Given the description of an element on the screen output the (x, y) to click on. 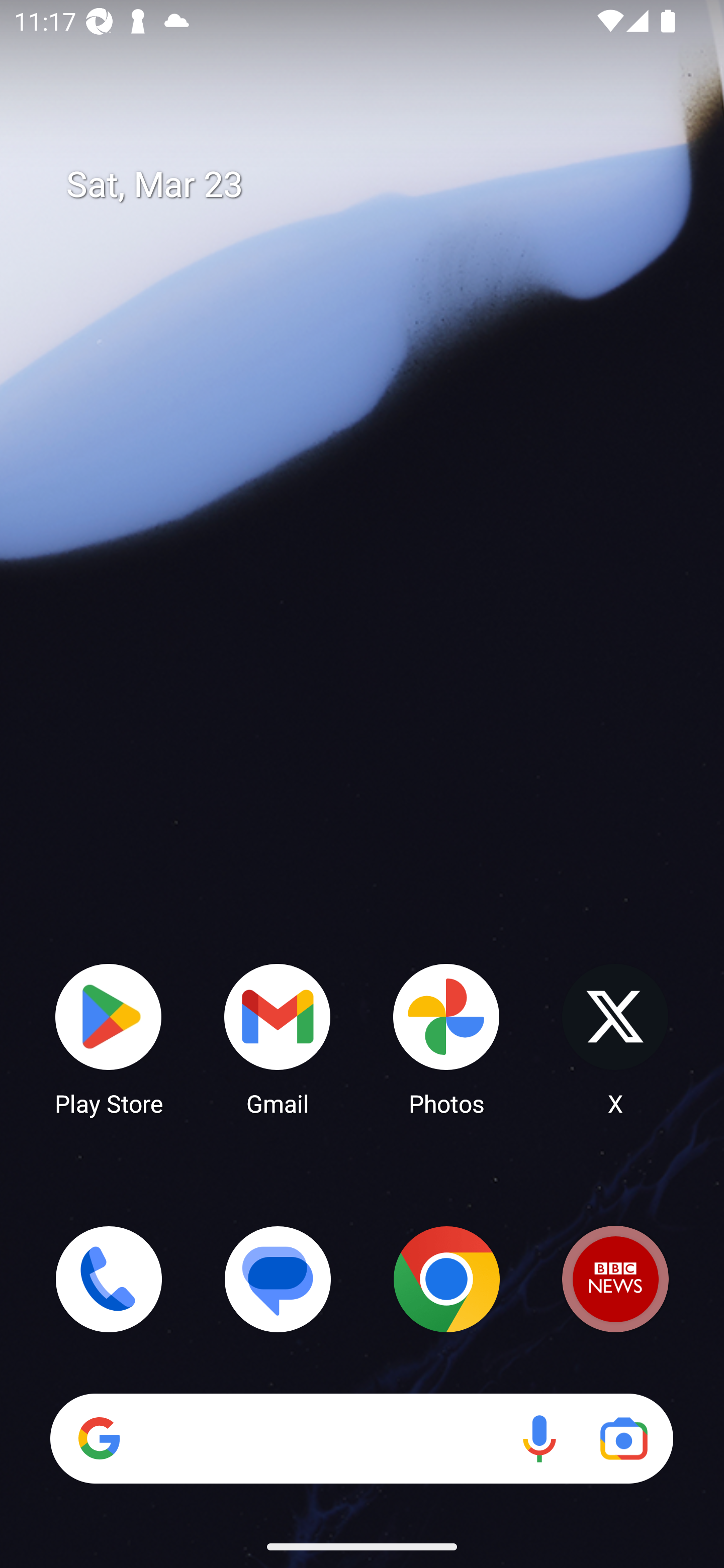
Sat, Mar 23 (375, 184)
Play Store (108, 1038)
Gmail (277, 1038)
Photos (445, 1038)
X (615, 1038)
Phone (108, 1279)
Messages (277, 1279)
Chrome (446, 1279)
BBC News Predicted app: BBC News (615, 1279)
Voice search (539, 1438)
Google Lens (623, 1438)
